Given the description of an element on the screen output the (x, y) to click on. 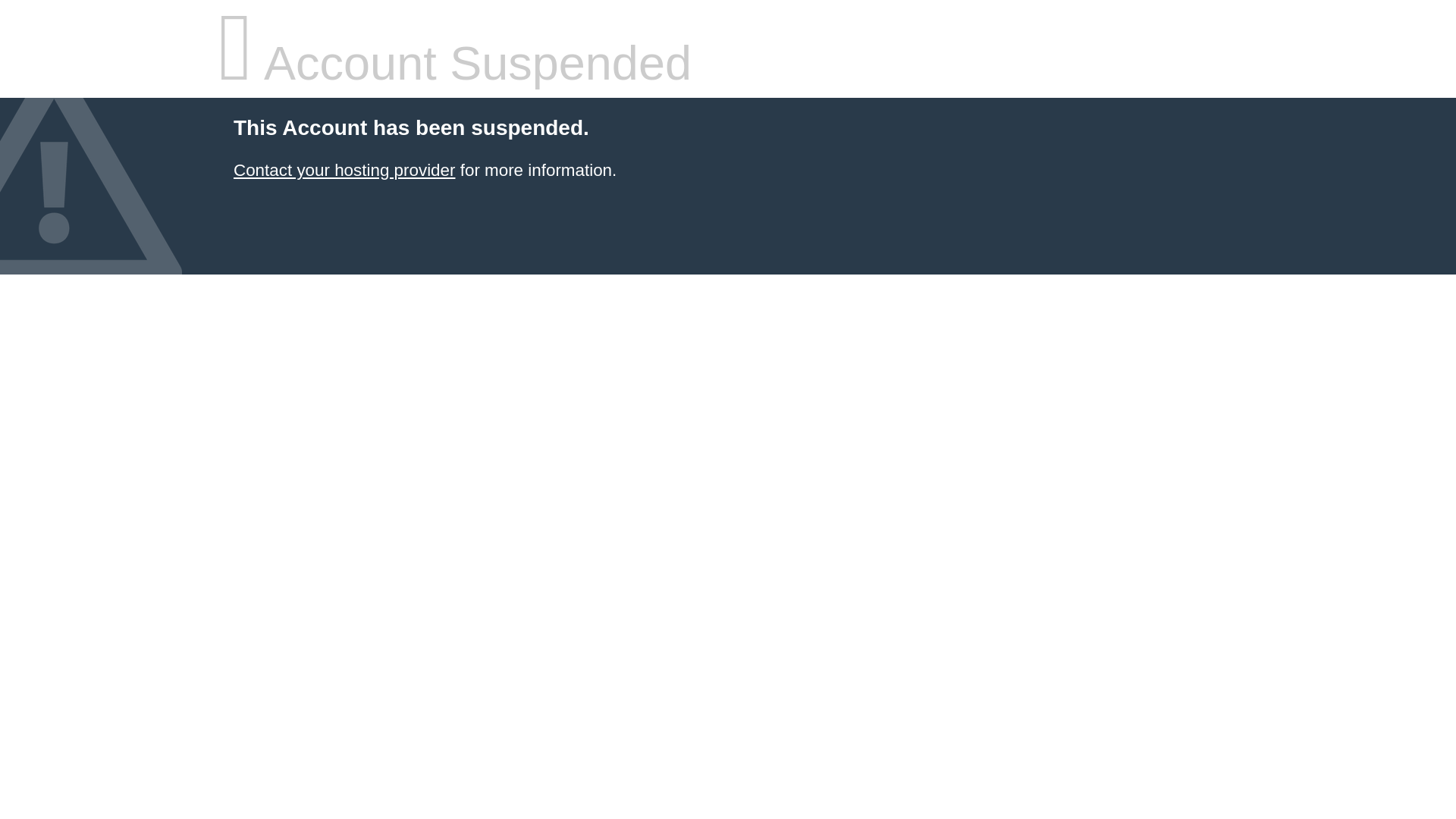
Contact your hosting provider (343, 169)
